Given the description of an element on the screen output the (x, y) to click on. 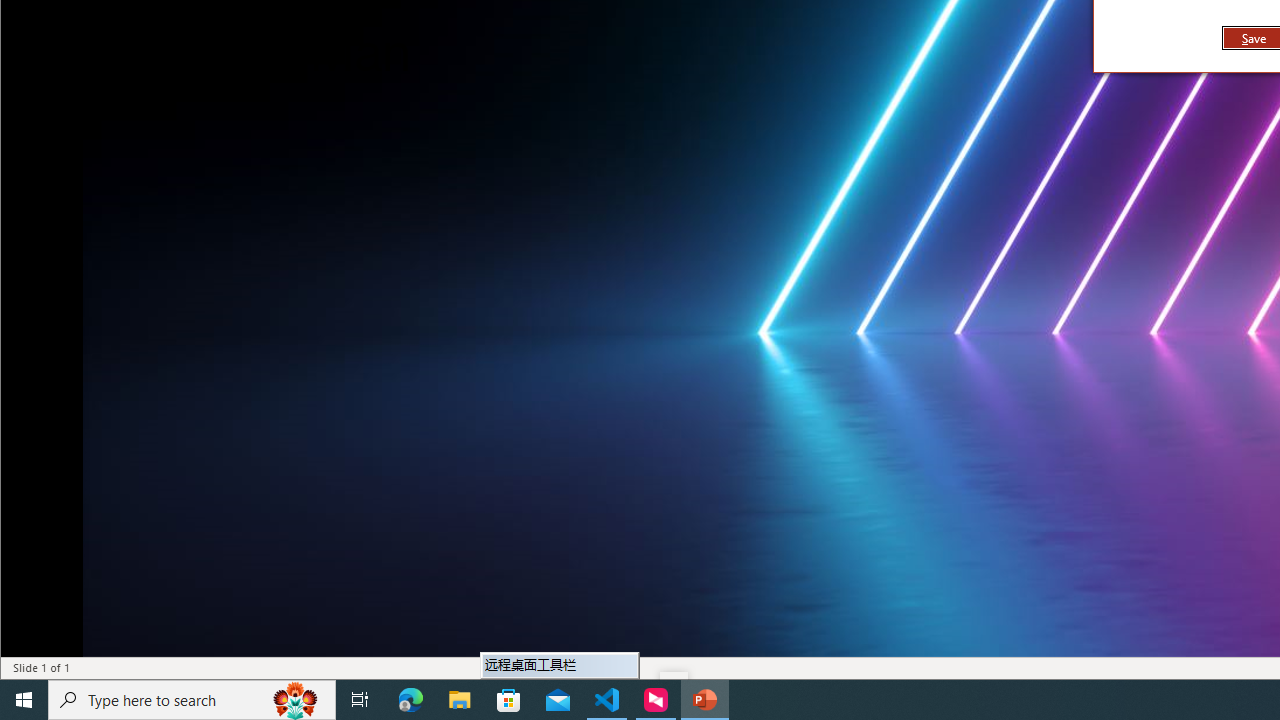
Task View (359, 699)
PowerPoint - 1 running window (704, 699)
Search highlights icon opens search home window (295, 699)
Type here to search (191, 699)
Microsoft Store (509, 699)
Visual Studio Code - 1 running window (607, 699)
File Explorer (460, 699)
Microsoft Edge (411, 699)
Start (24, 699)
